Given the description of an element on the screen output the (x, y) to click on. 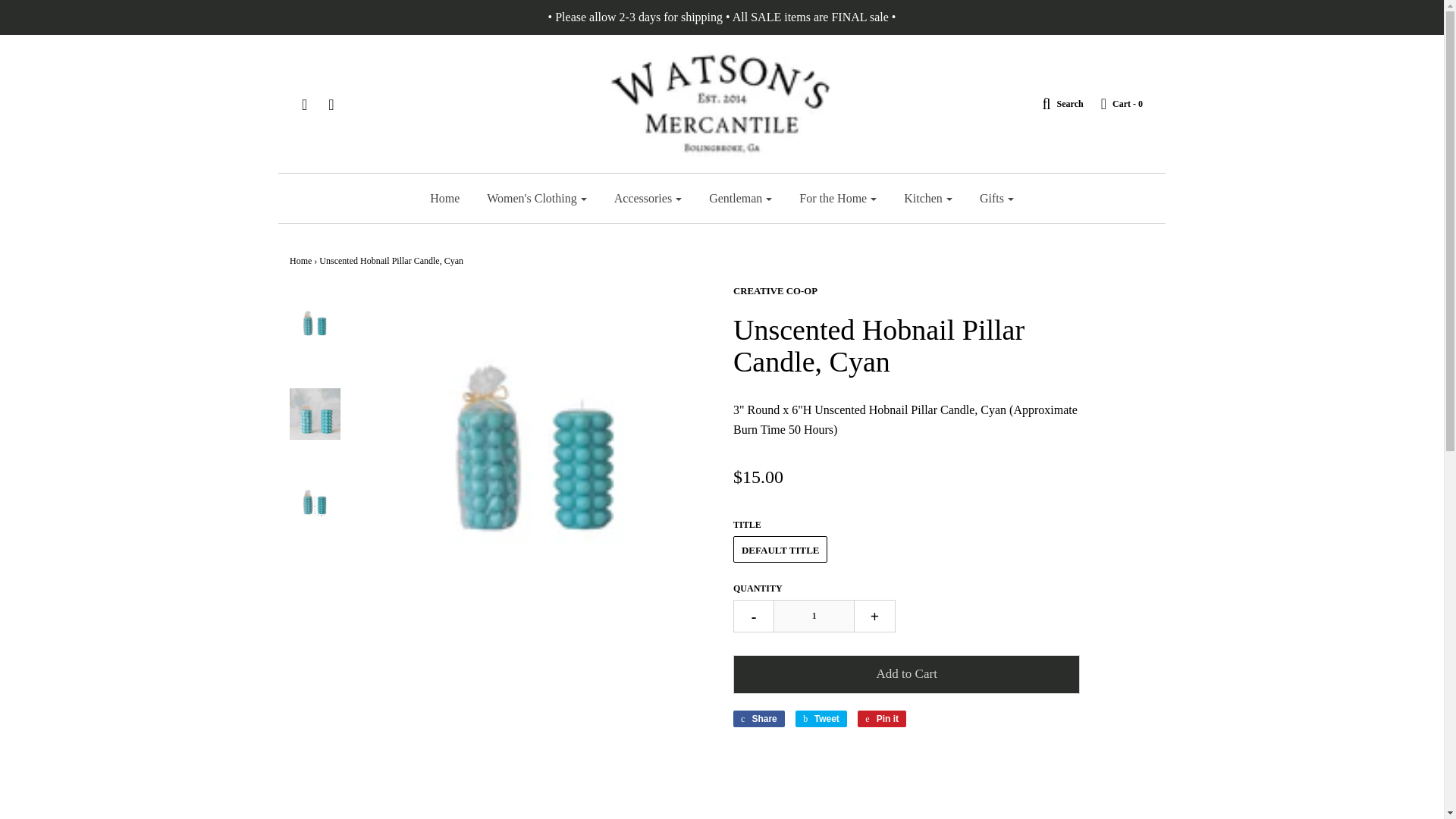
Unscented Hobnail Pillar Candle, Cyan (314, 324)
Unscented Hobnail Pillar Candle, Cyan (314, 413)
Back to the frontpage (300, 260)
Cart (1114, 103)
Unscented Hobnail Pillar Candle, Cyan (314, 503)
Search (1054, 103)
1 (813, 615)
